Given the description of an element on the screen output the (x, y) to click on. 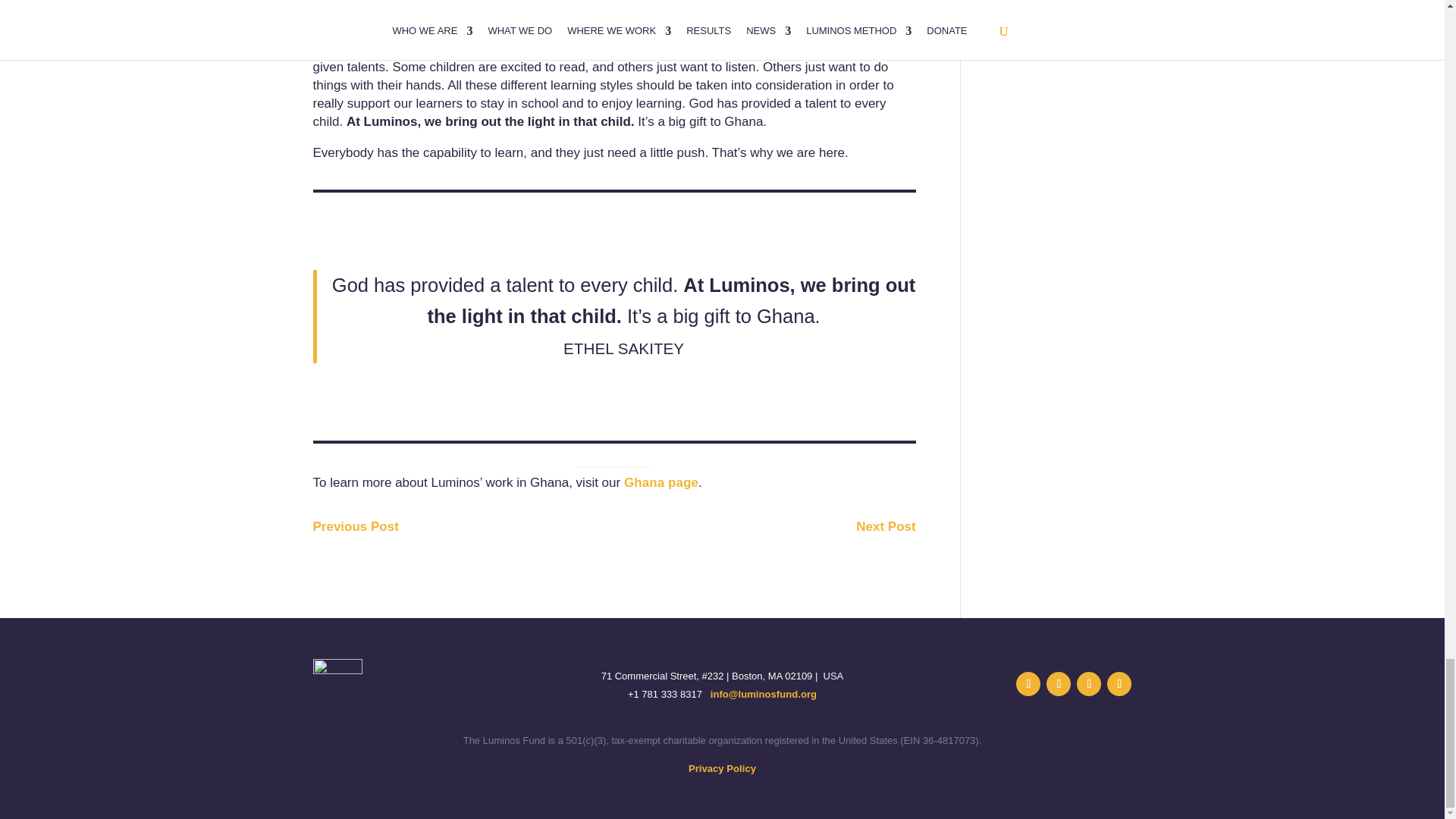
Follow on LinkedIn (1058, 683)
Follow on Instagram (1118, 683)
Next Post (885, 526)
Previous Post (355, 526)
Follow on Facebook (1088, 683)
Privacy Policy (721, 767)
Ghana page (661, 482)
Follow on X (1028, 683)
